Given the description of an element on the screen output the (x, y) to click on. 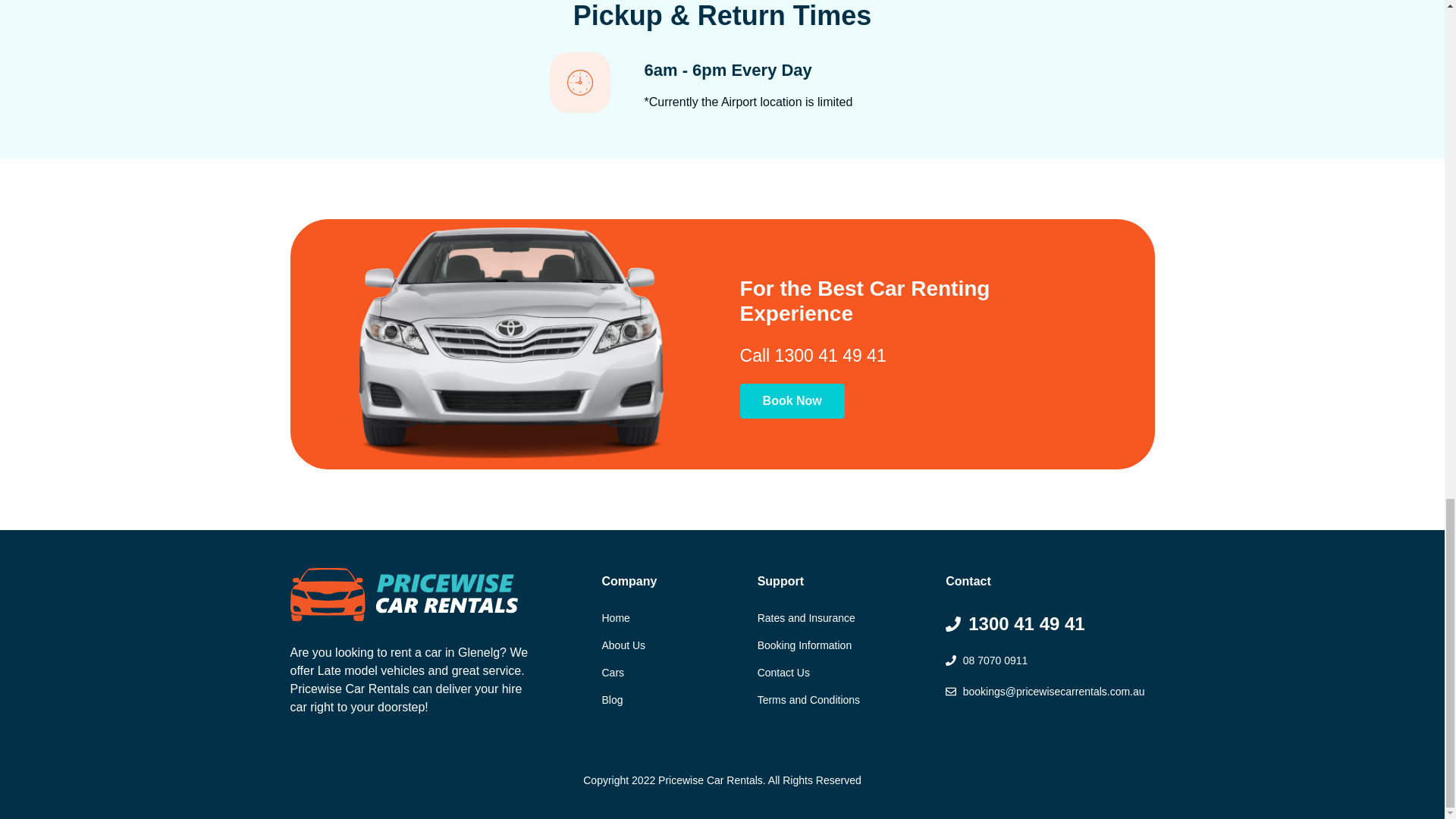
1300 41 49 41 (830, 355)
About Us (671, 645)
08 7070 0911 (1045, 660)
1300 41 49 41 (1045, 624)
Cars (671, 672)
Rates and Insurance (844, 618)
Booking Information (844, 645)
Blog (671, 700)
Terms and Conditions (844, 700)
Contact Us (844, 672)
Home (671, 618)
Book Now (791, 401)
